Given the description of an element on the screen output the (x, y) to click on. 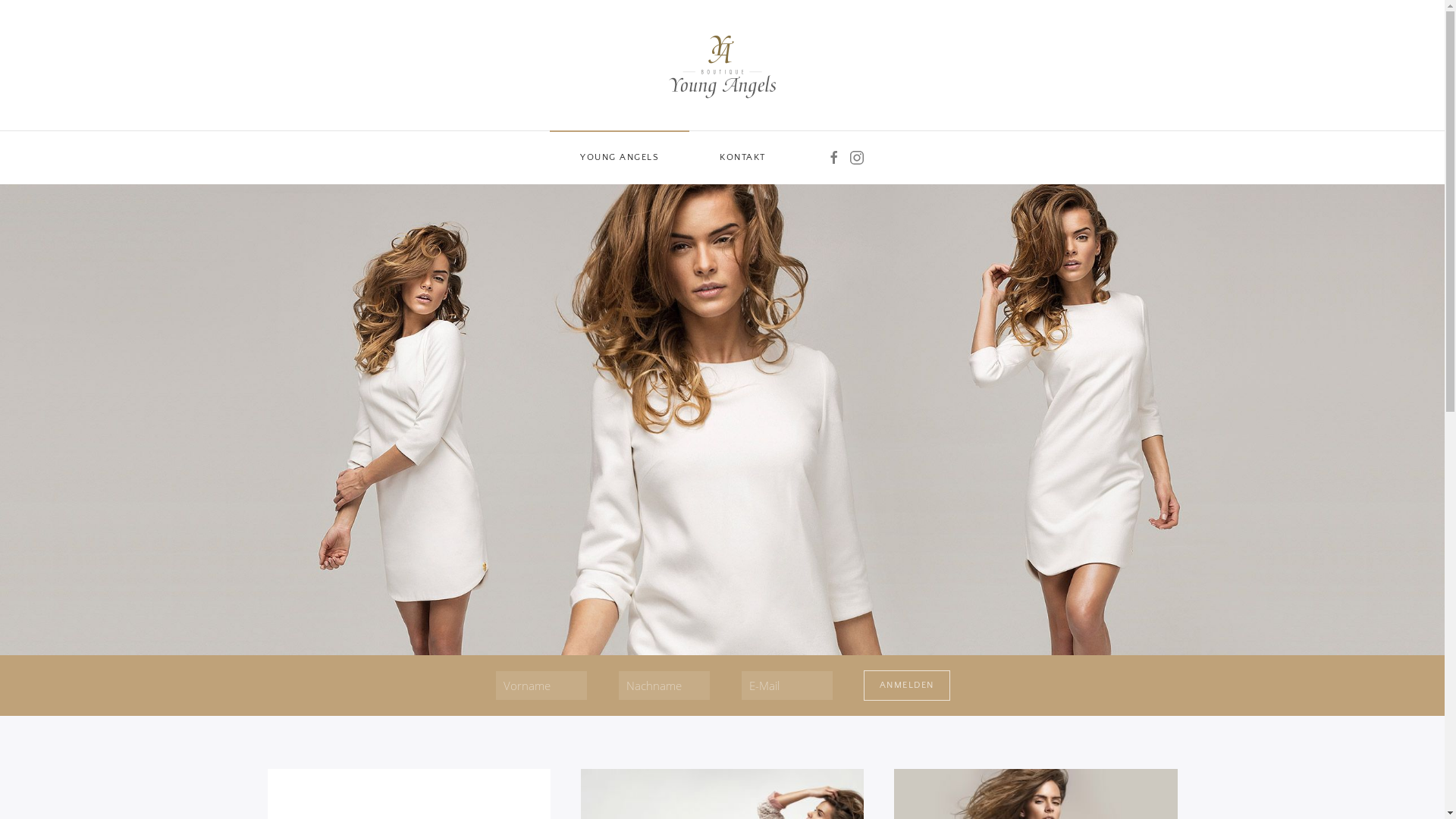
KONTAKT Element type: text (742, 157)
YOUNG ANGELS Element type: text (619, 157)
ANMELDEN Element type: text (905, 685)
